Given the description of an element on the screen output the (x, y) to click on. 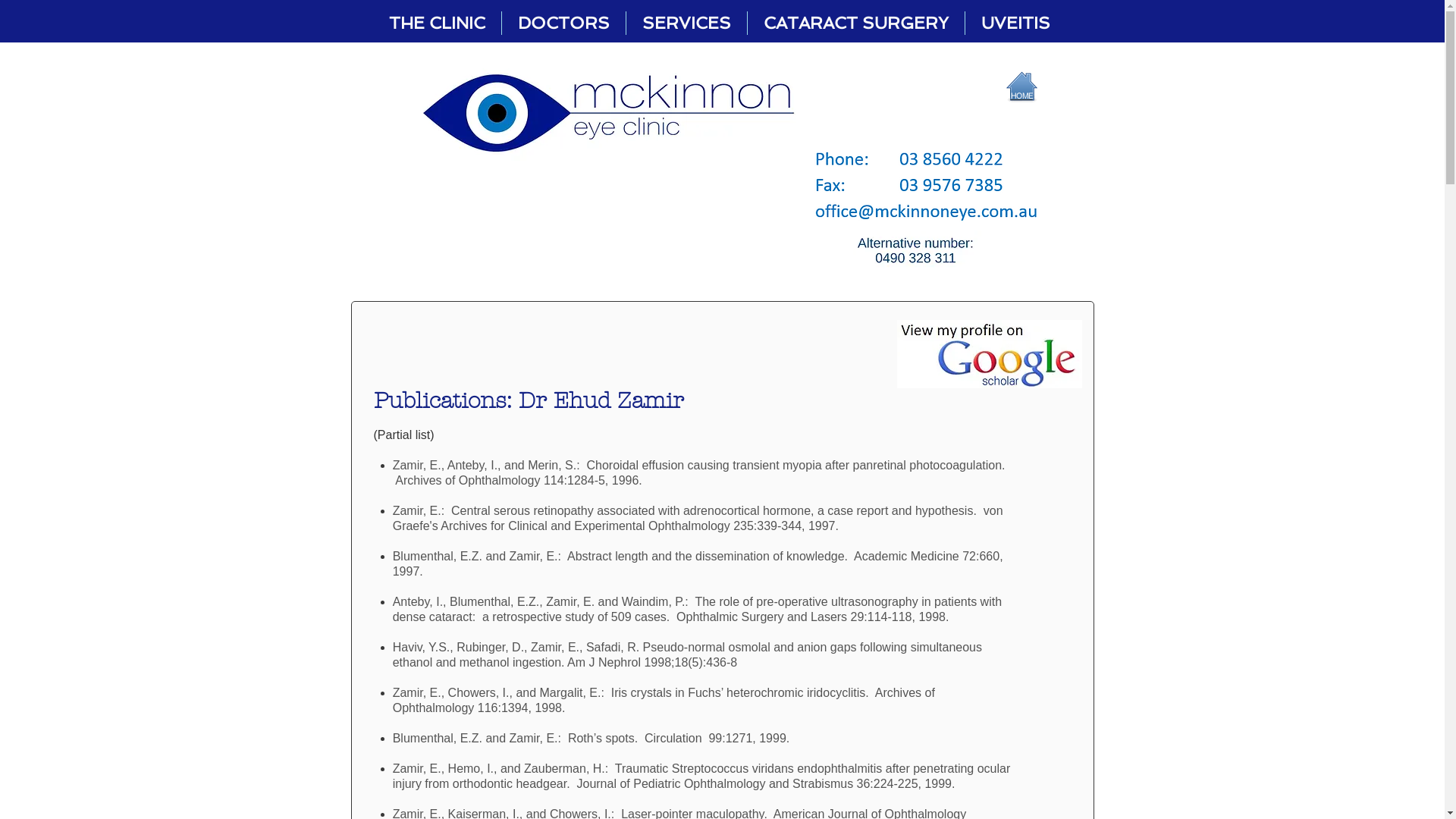
HOME Element type: text (1021, 95)
phone fax.PNG Element type: hover (926, 187)
